Given the description of an element on the screen output the (x, y) to click on. 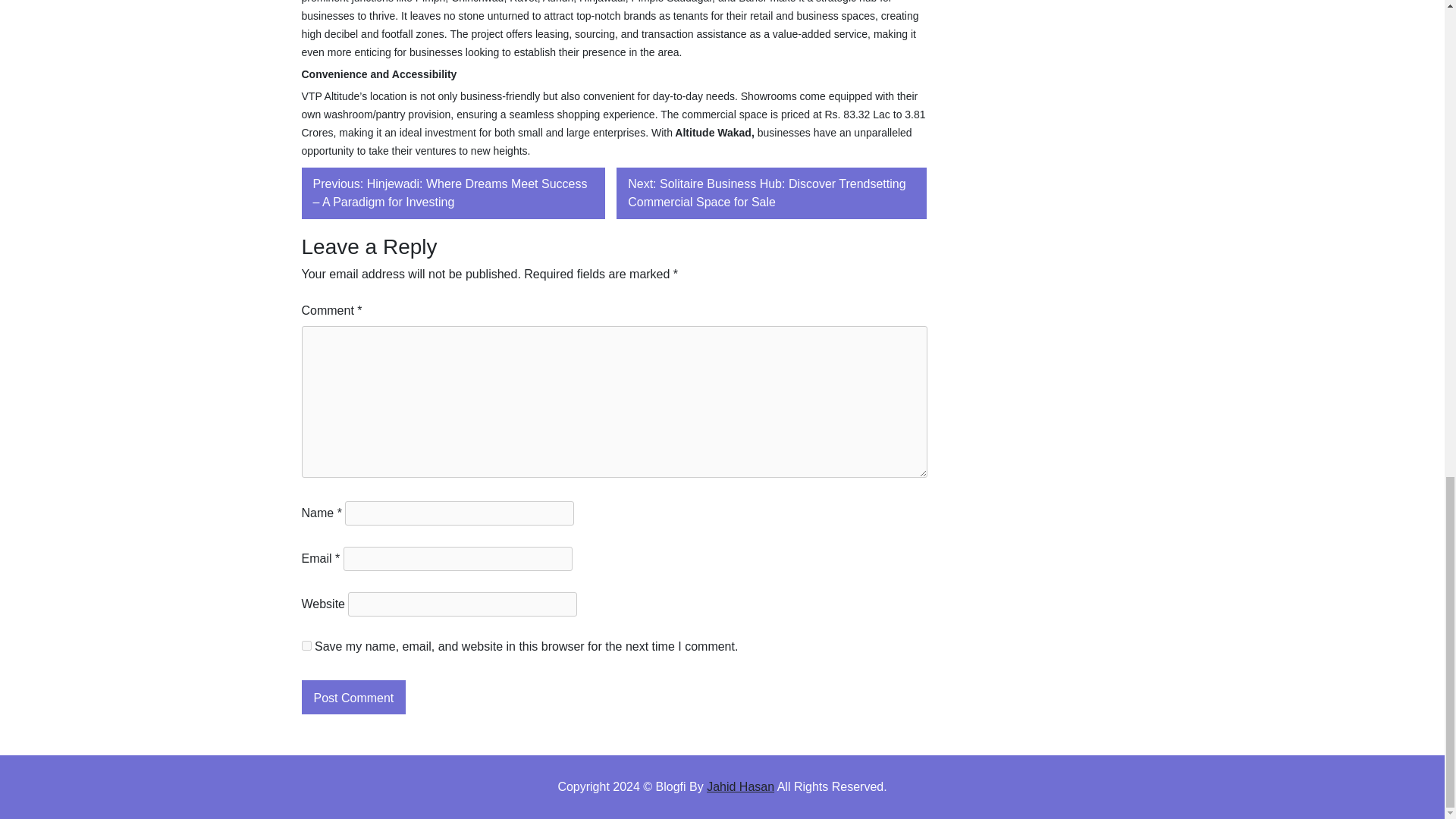
Jahid Hasan (740, 786)
yes (306, 645)
Post Comment (353, 697)
Post Comment (353, 697)
